Given the description of an element on the screen output the (x, y) to click on. 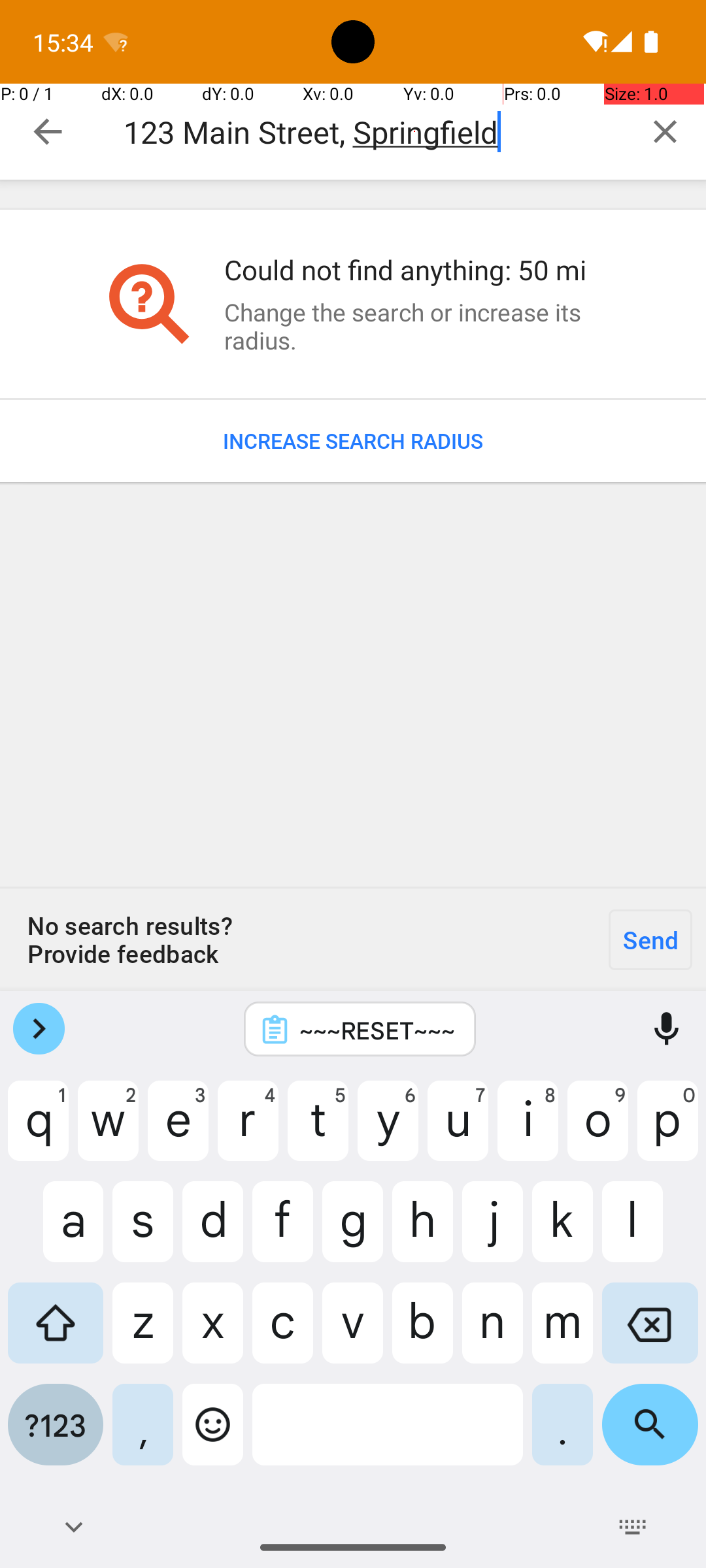
No search results?
Provide feedback Element type: android.widget.TextView (297, 939)
123 Main Street, Springfield Element type: android.widget.EditText (373, 131)
Send Element type: android.widget.TextView (650, 939)
Could not find anything: 50 mi Element type: android.widget.TextView (414, 269)
Change the search or increase its radius. Element type: android.widget.TextView (414, 325)
INCREASE SEARCH RADIUS Element type: android.widget.TextView (352, 440)
